Given the description of an element on the screen output the (x, y) to click on. 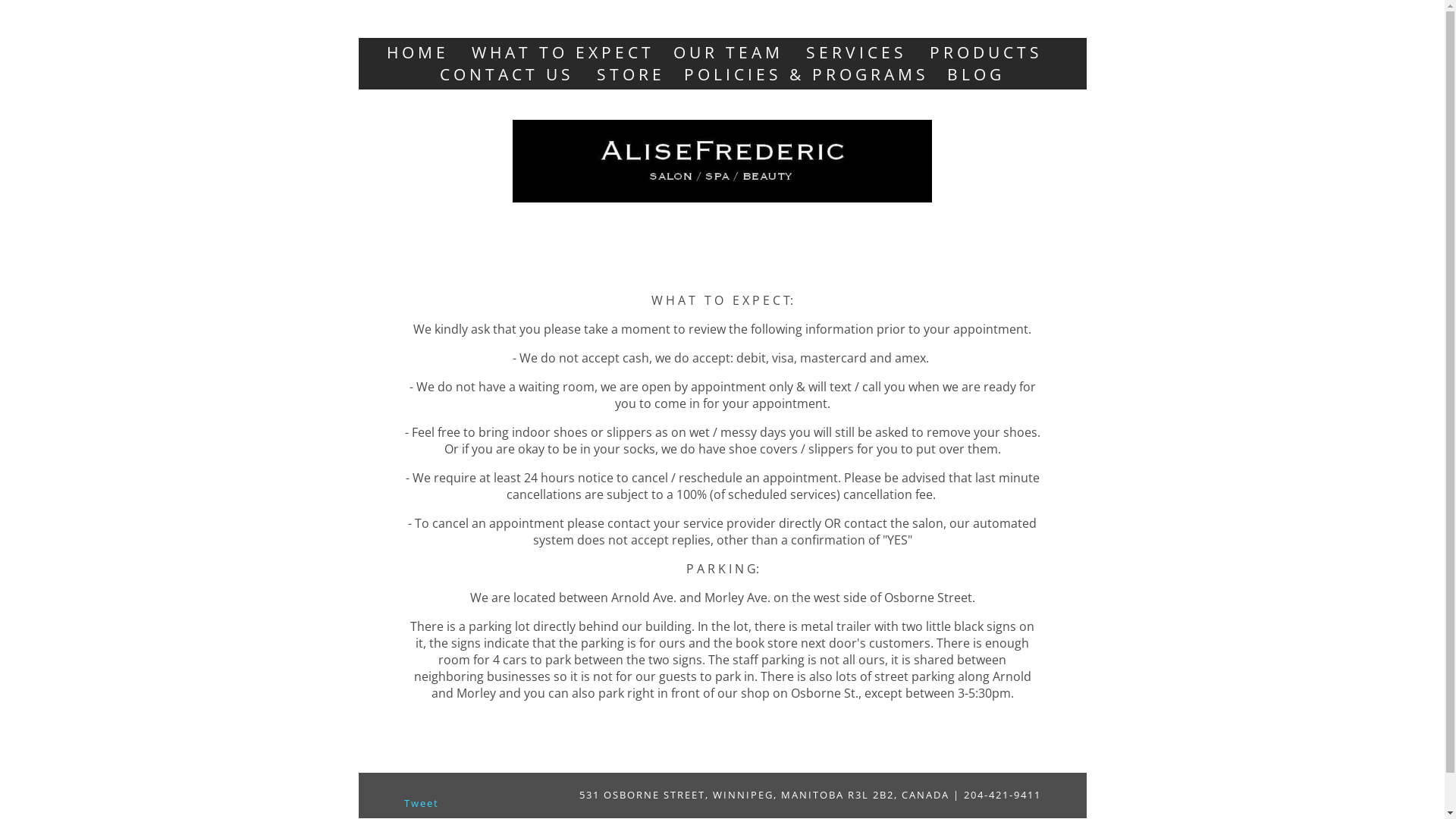
HOME Element type: text (421, 51)
BLOG Element type: text (975, 73)
STORE Element type: text (630, 73)
SERVICES Element type: text (860, 51)
PRODUCTS Element type: text (985, 51)
OUR TEAM Element type: text (731, 51)
POLICIES & PROGRAMS Element type: text (806, 73)
CONTACT US Element type: text (510, 73)
WHAT TO EXPECT Element type: text (562, 51)
Tweet Element type: text (420, 802)
